Given the description of an element on the screen output the (x, y) to click on. 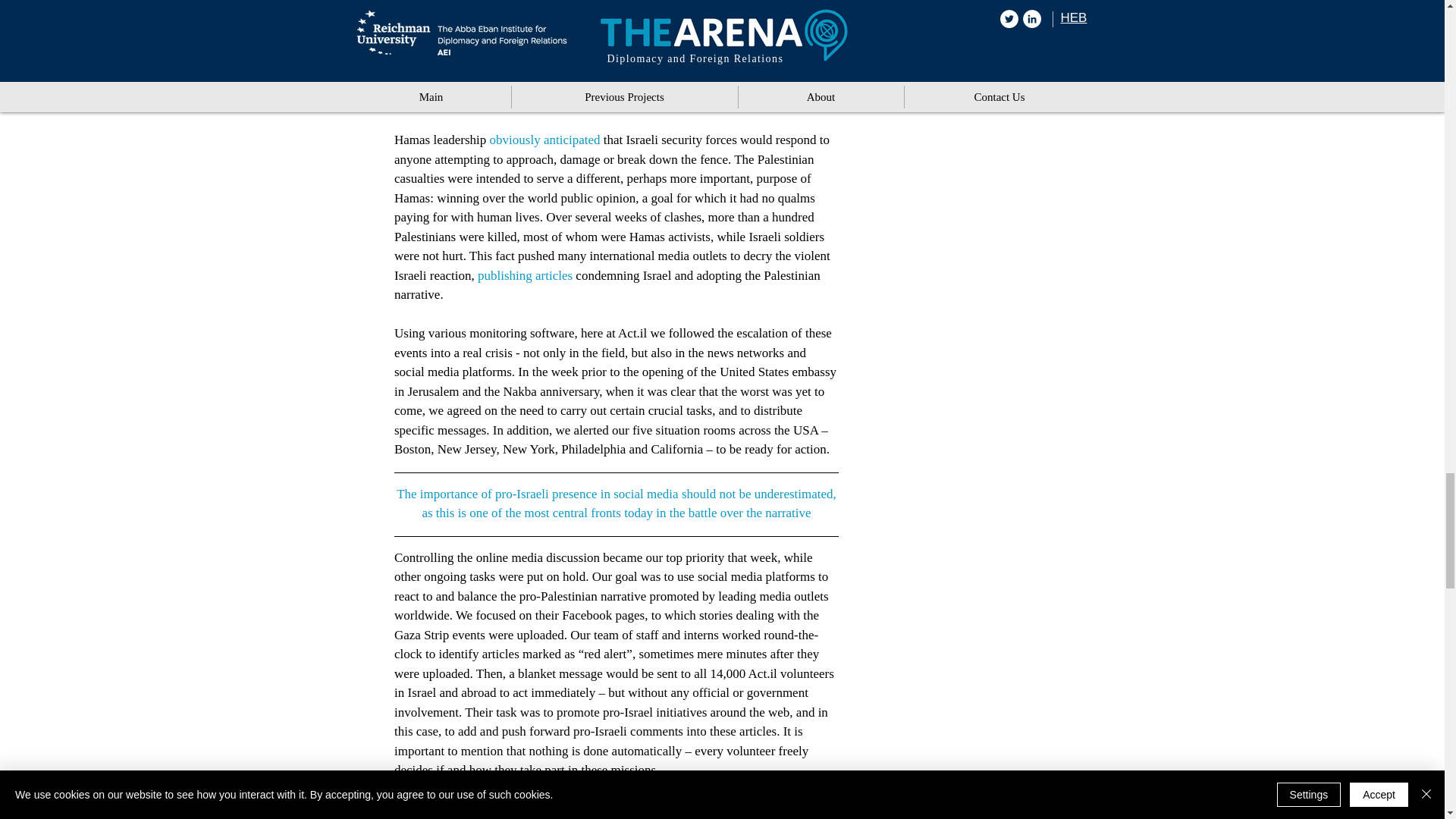
Gaza Strip demonstrations, (602, 6)
obviously anticipated (544, 139)
publishing articles (524, 275)
